Given the description of an element on the screen output the (x, y) to click on. 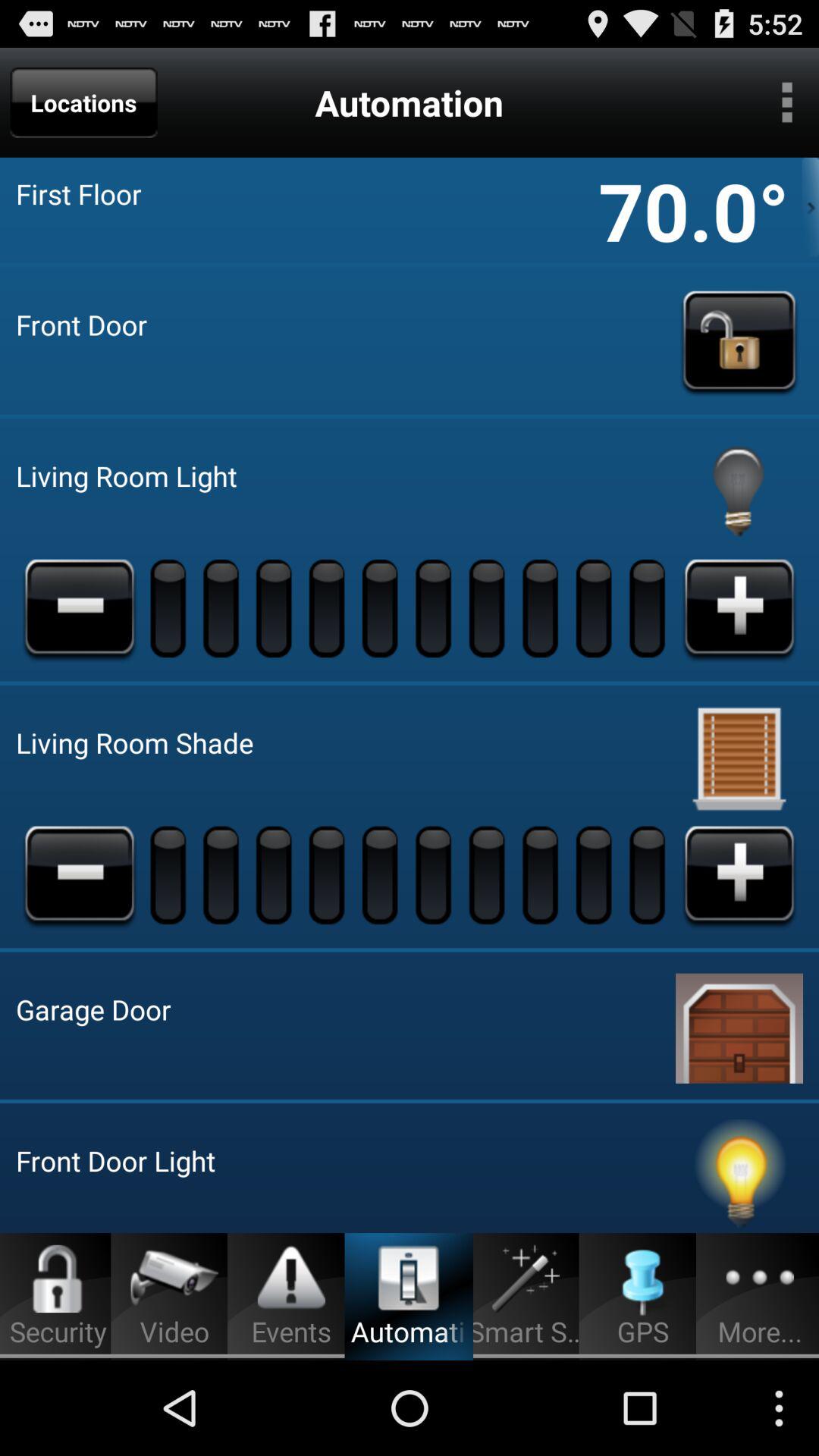
go do lock (739, 340)
